Given the description of an element on the screen output the (x, y) to click on. 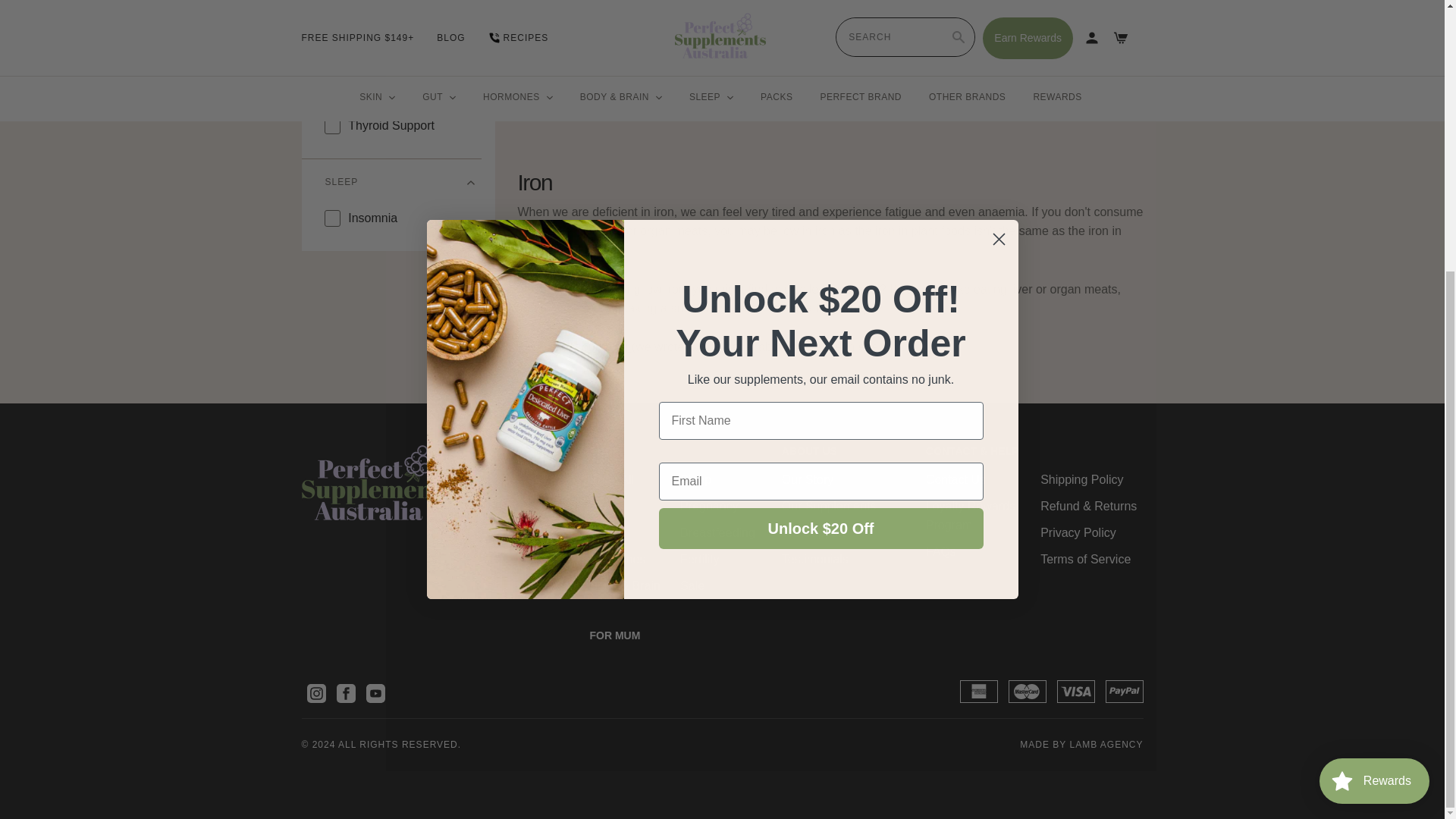
Perfect Supplements Australia on YouTube (374, 692)
SHOP (673, 450)
Perfect Supplements Australia on Instagram (314, 692)
ABOUT US (841, 450)
FOR MUM (649, 635)
Irons role in energy (573, 346)
Perfect Supplements Australia on Facebook (345, 692)
